Given the description of an element on the screen output the (x, y) to click on. 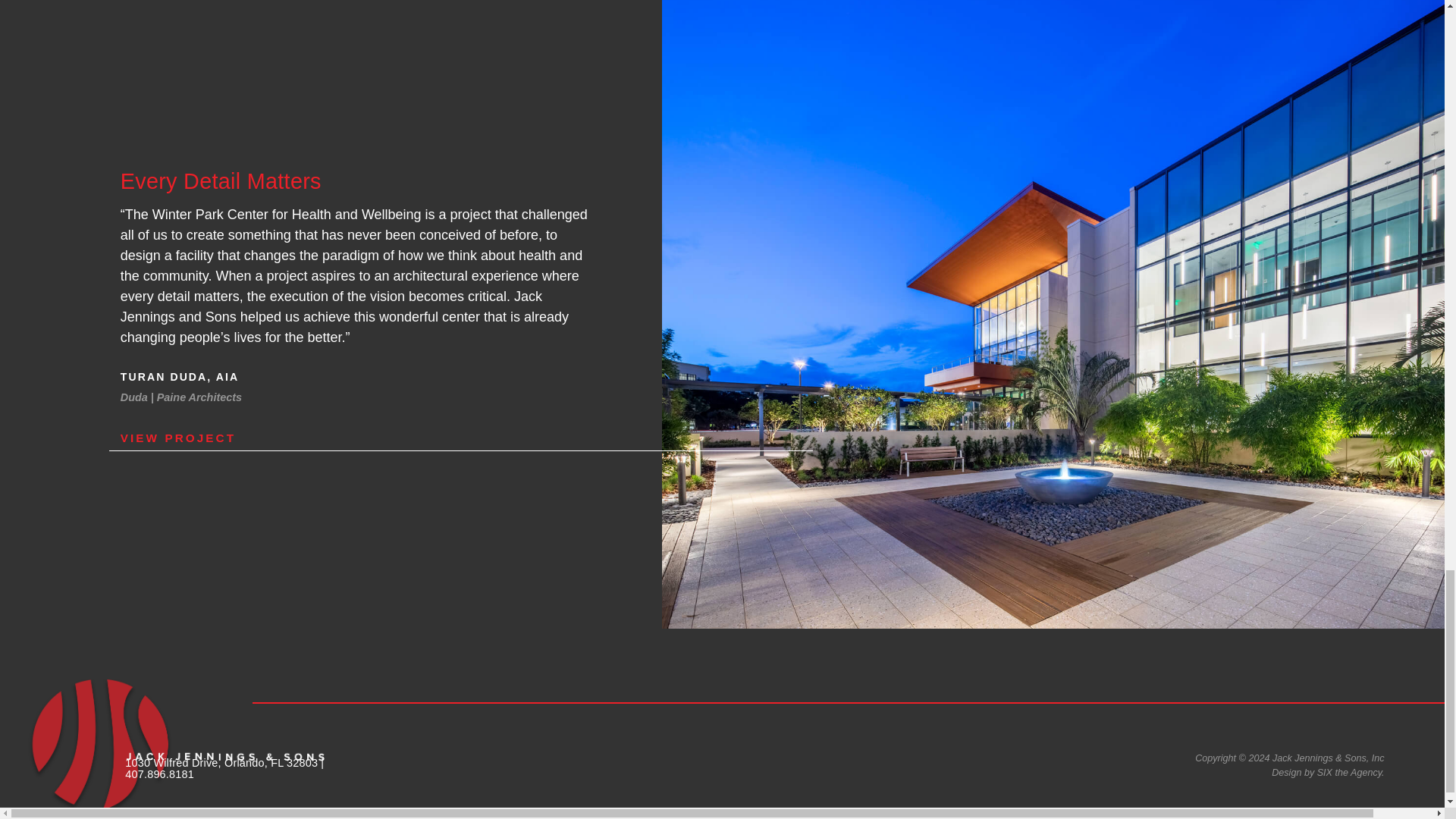
Design by SIX the Agency. (1327, 772)
VIEW PROJECT (461, 438)
